Given the description of an element on the screen output the (x, y) to click on. 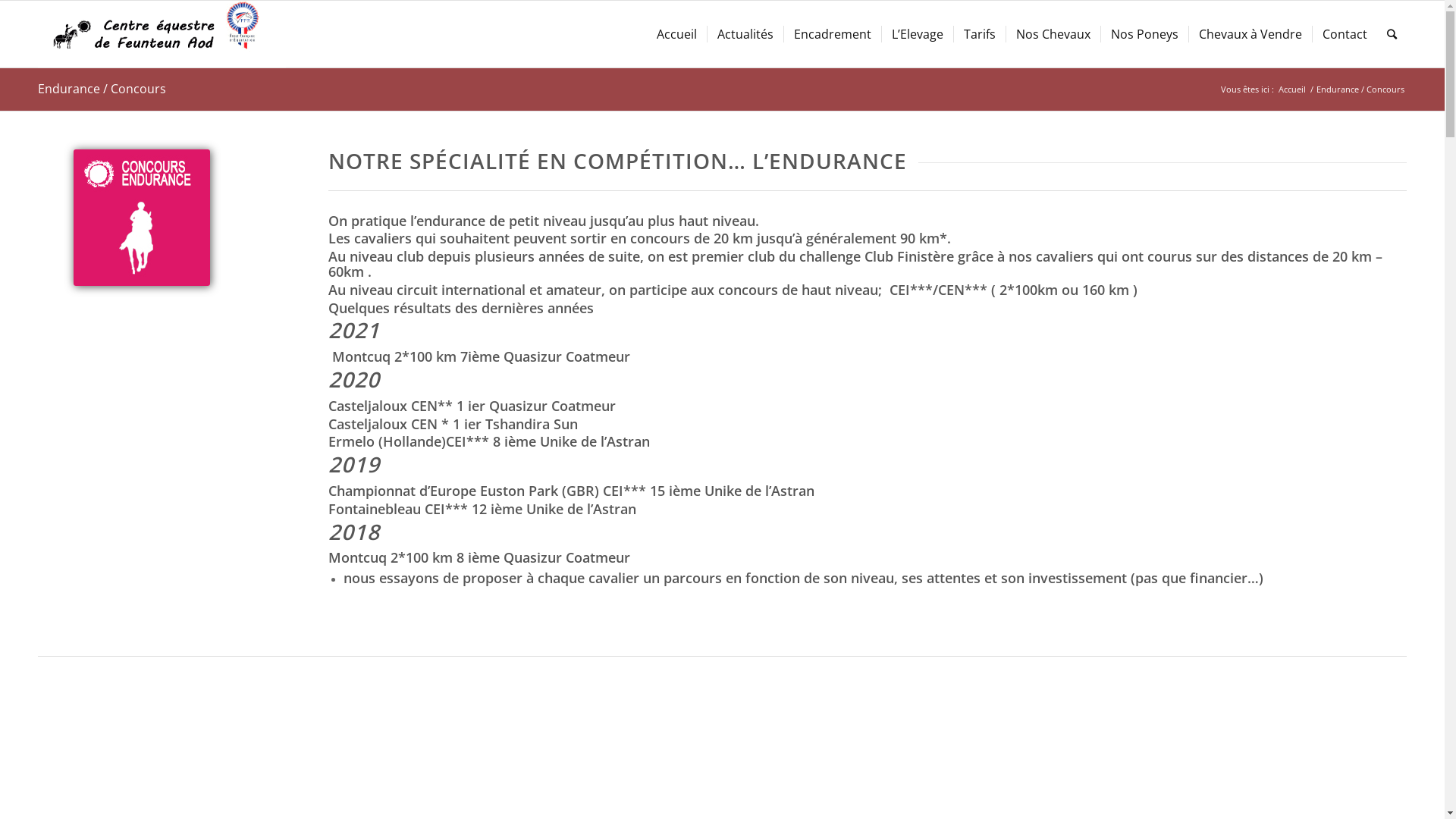
Nos Poneys Element type: text (1144, 33)
Encadrement Element type: text (832, 33)
Accueil Element type: text (676, 33)
logo accueil concours endurance copie Element type: hover (141, 217)
Contact Element type: text (1344, 33)
Accueil Element type: text (1292, 88)
Tarifs Element type: text (979, 33)
Nos Chevaux Element type: text (1052, 33)
Endurance / Concours Element type: text (101, 88)
